Given the description of an element on the screen output the (x, y) to click on. 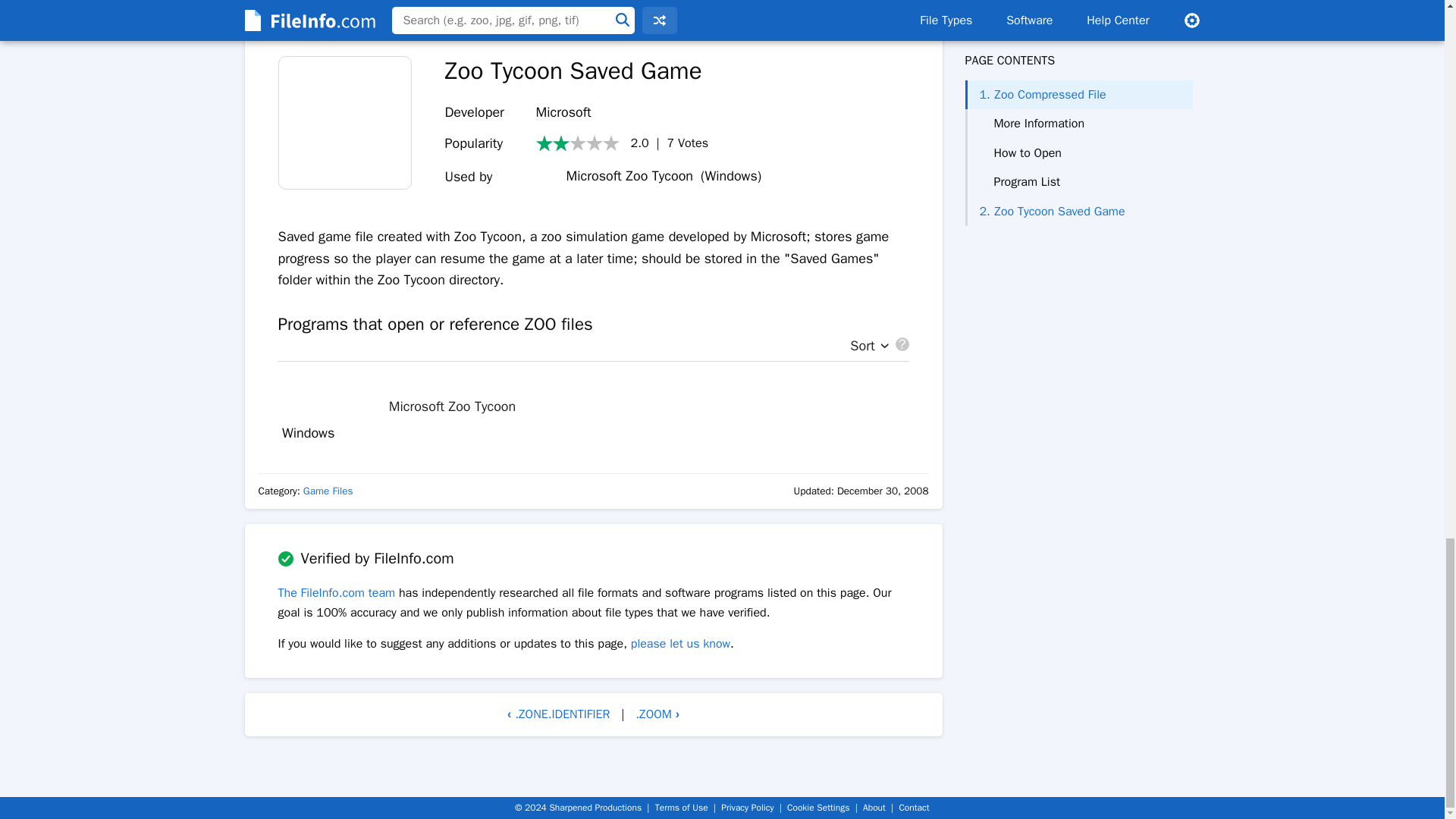
Document Icon (344, 122)
